Given the description of an element on the screen output the (x, y) to click on. 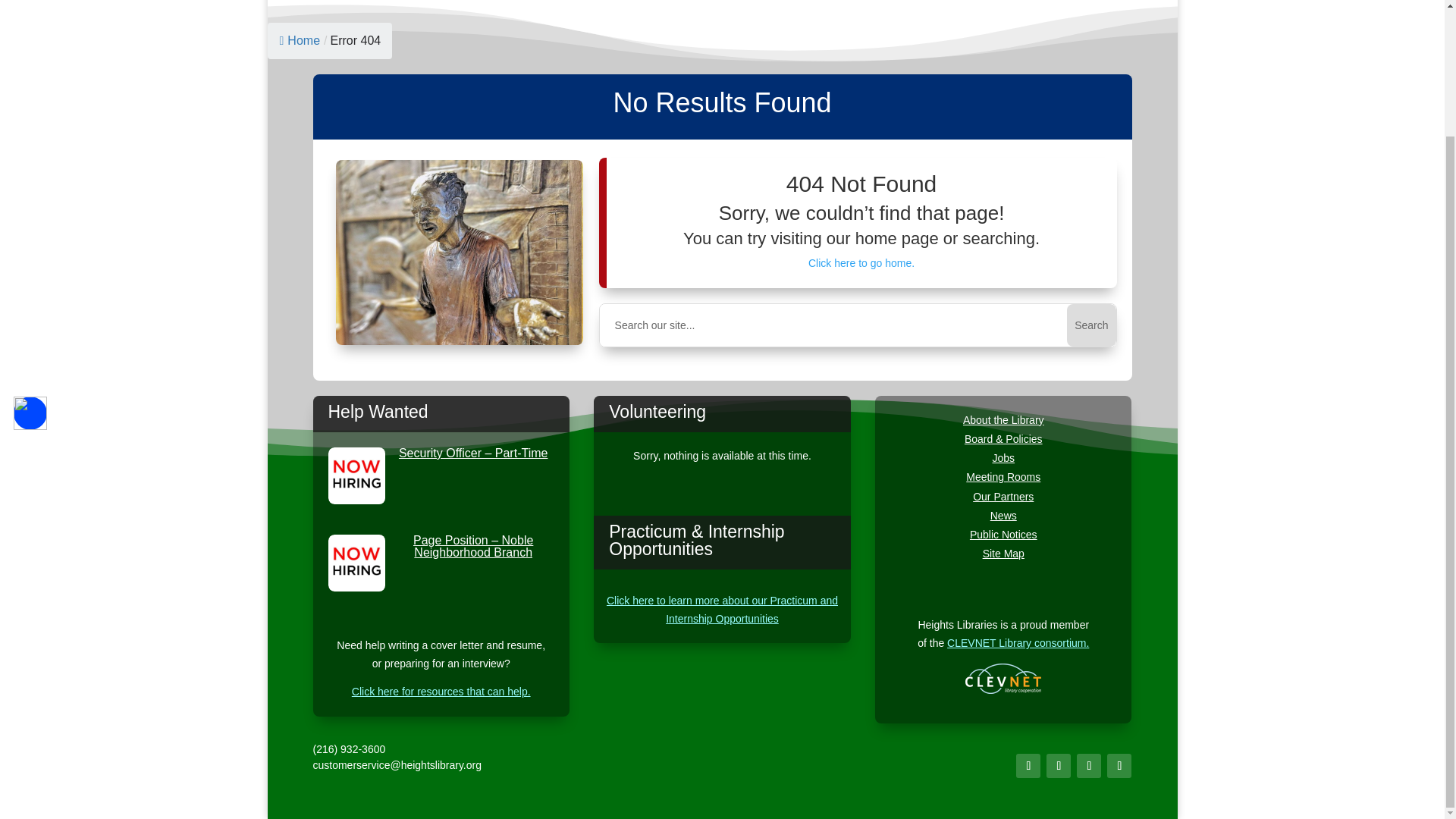
Follow on Facebook (1028, 765)
Follow on RSS (1118, 765)
Search (1091, 324)
harvey-shrug (459, 251)
Search (1091, 324)
Accessibility Menu (29, 259)
Follow on Instagram (1058, 765)
Follow on Youtube (1088, 765)
